Given the description of an element on the screen output the (x, y) to click on. 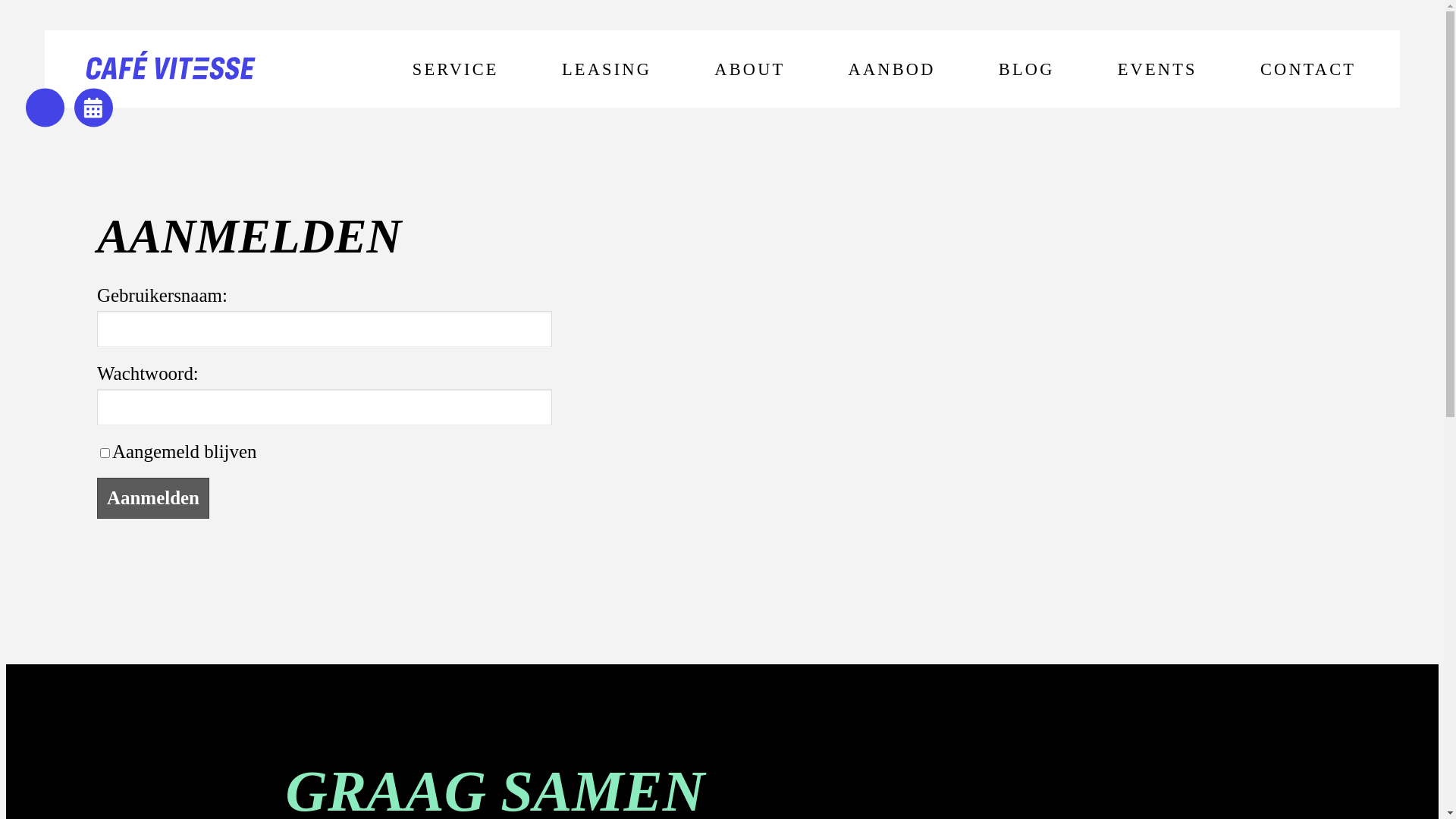
SERVICE Element type: text (455, 68)
Ga naar de homepagina Element type: hover (170, 68)
EVENTS Element type: text (1156, 68)
Aanmelden Element type: text (153, 497)
AANBOD Element type: text (891, 68)
Bel 050 27 70 05 Element type: hover (44, 106)
LEASING Element type: text (606, 68)
BLOG Element type: text (1026, 68)
CONTACT Element type: text (1308, 68)
ABOUT Element type: text (749, 68)
